Given the description of an element on the screen output the (x, y) to click on. 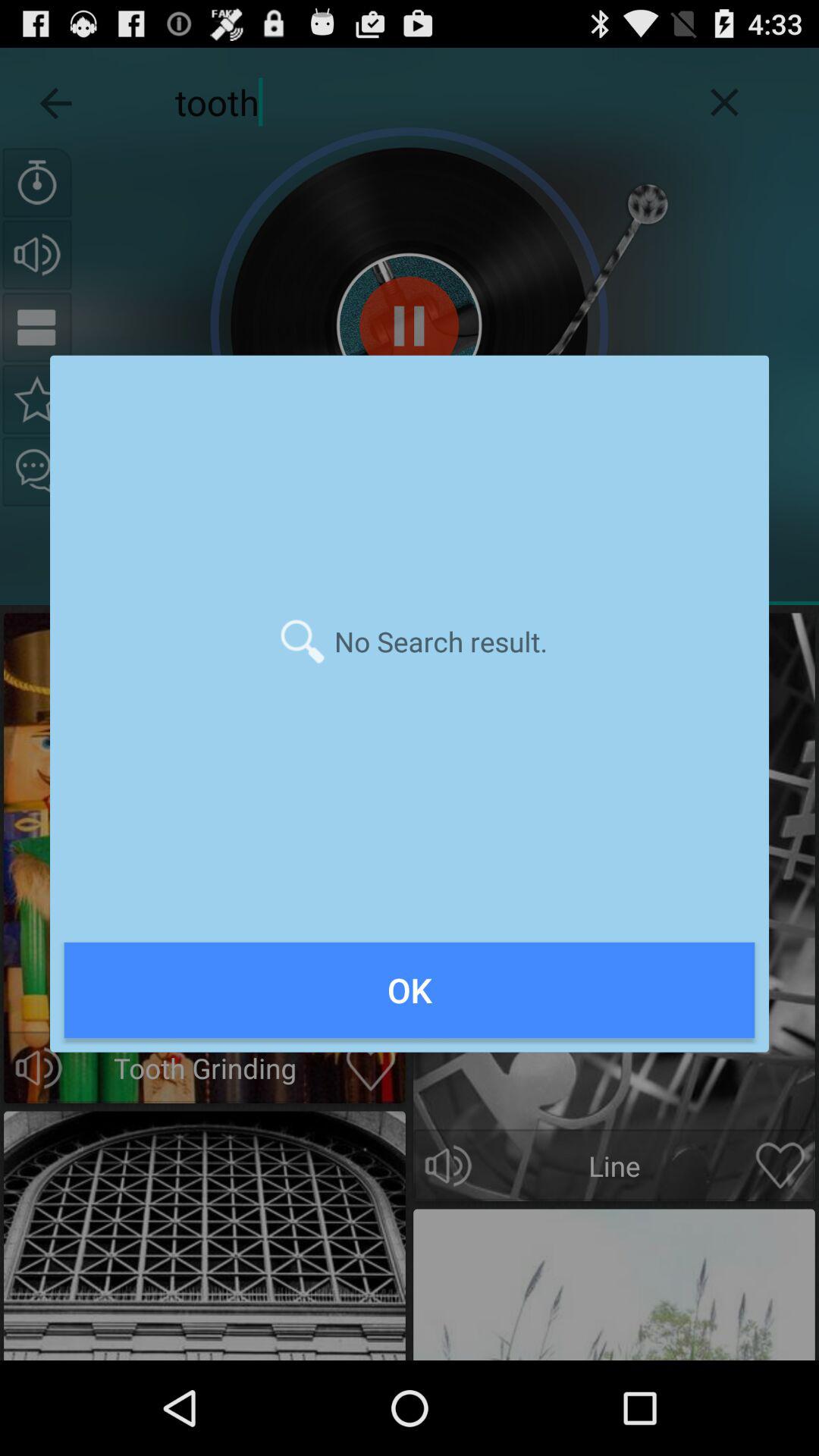
tap the ok (409, 989)
